Given the description of an element on the screen output the (x, y) to click on. 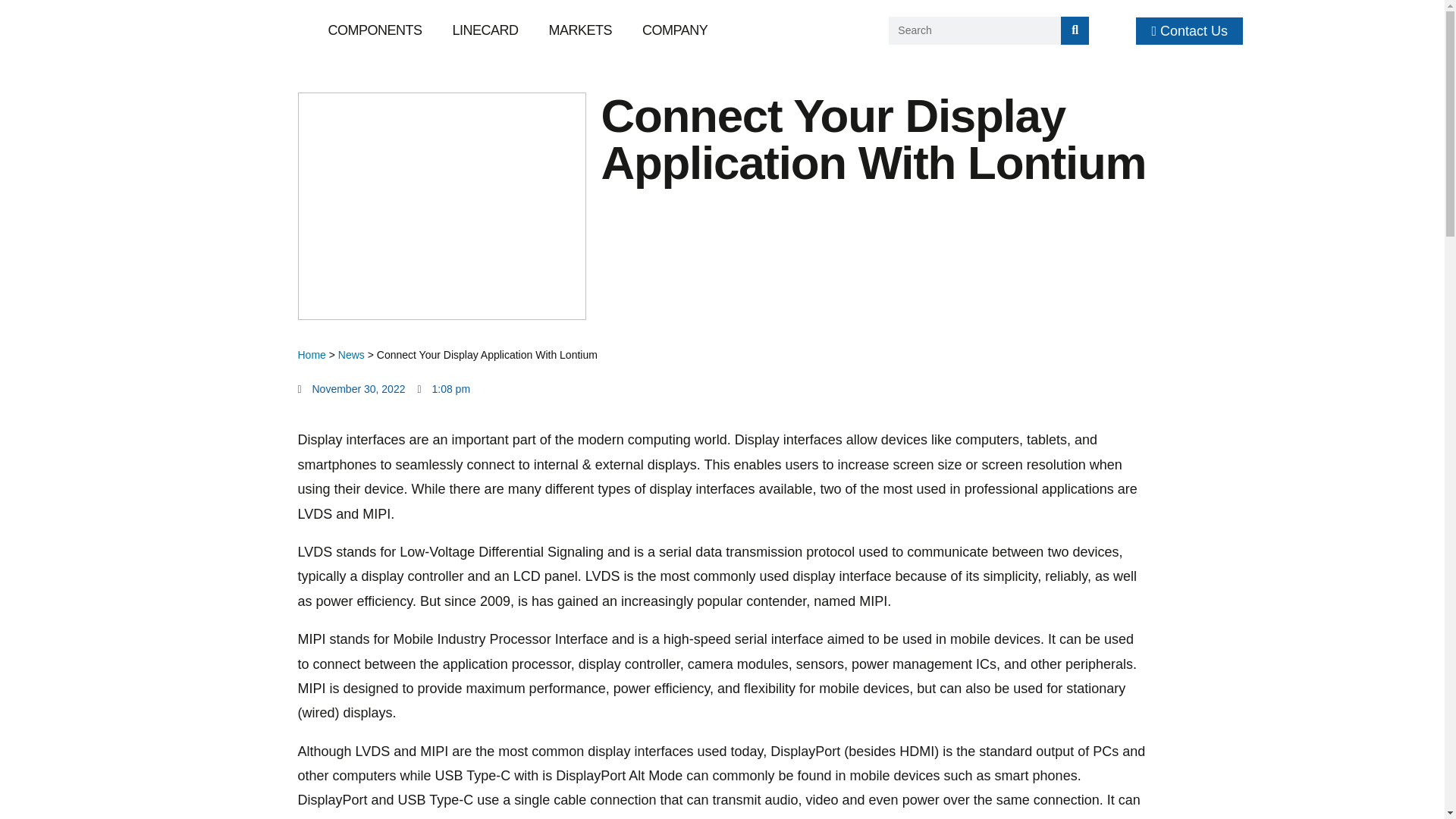
COMPONENTS (374, 30)
